Given the description of an element on the screen output the (x, y) to click on. 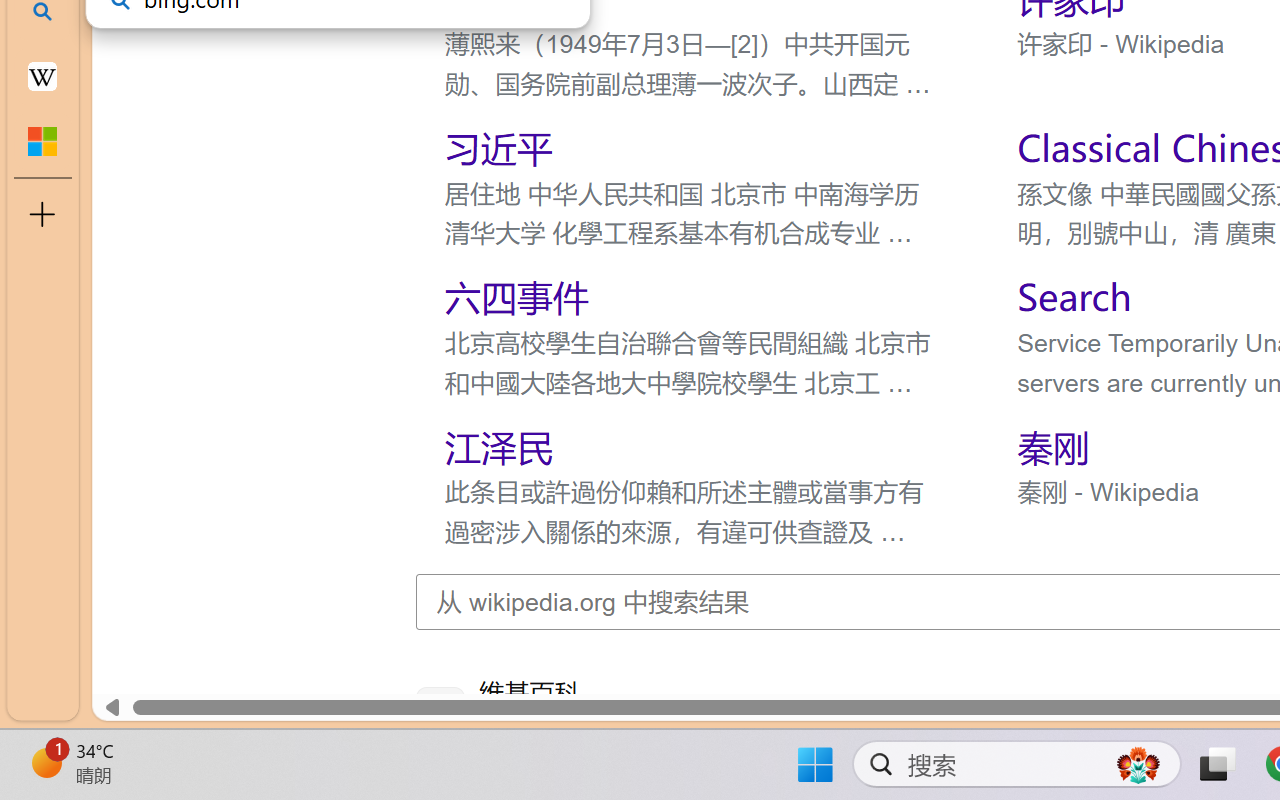
Earth - Wikipedia (42, 75)
Search (1073, 296)
